Given the description of an element on the screen output the (x, y) to click on. 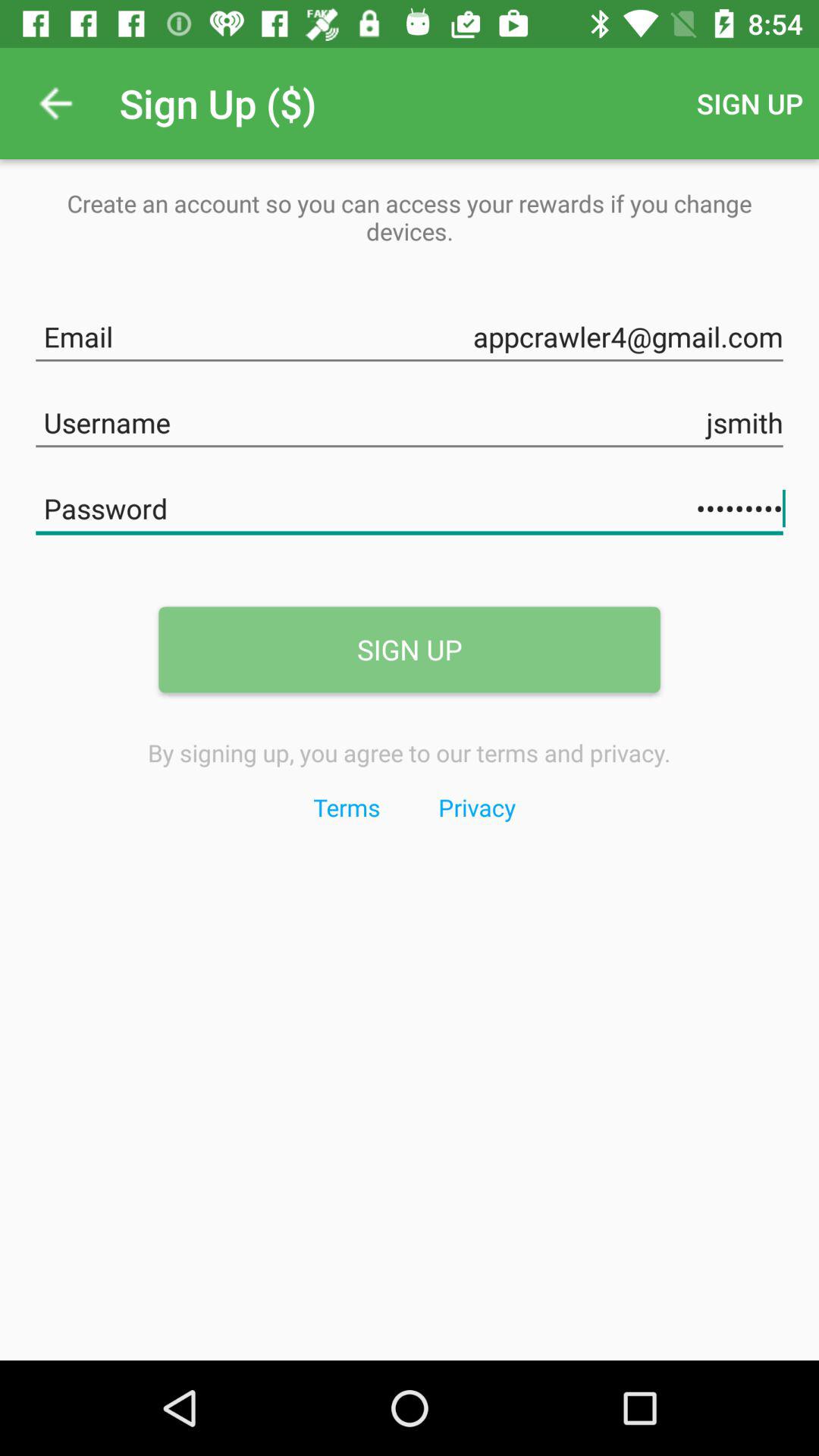
swipe until jsmith (409, 419)
